Given the description of an element on the screen output the (x, y) to click on. 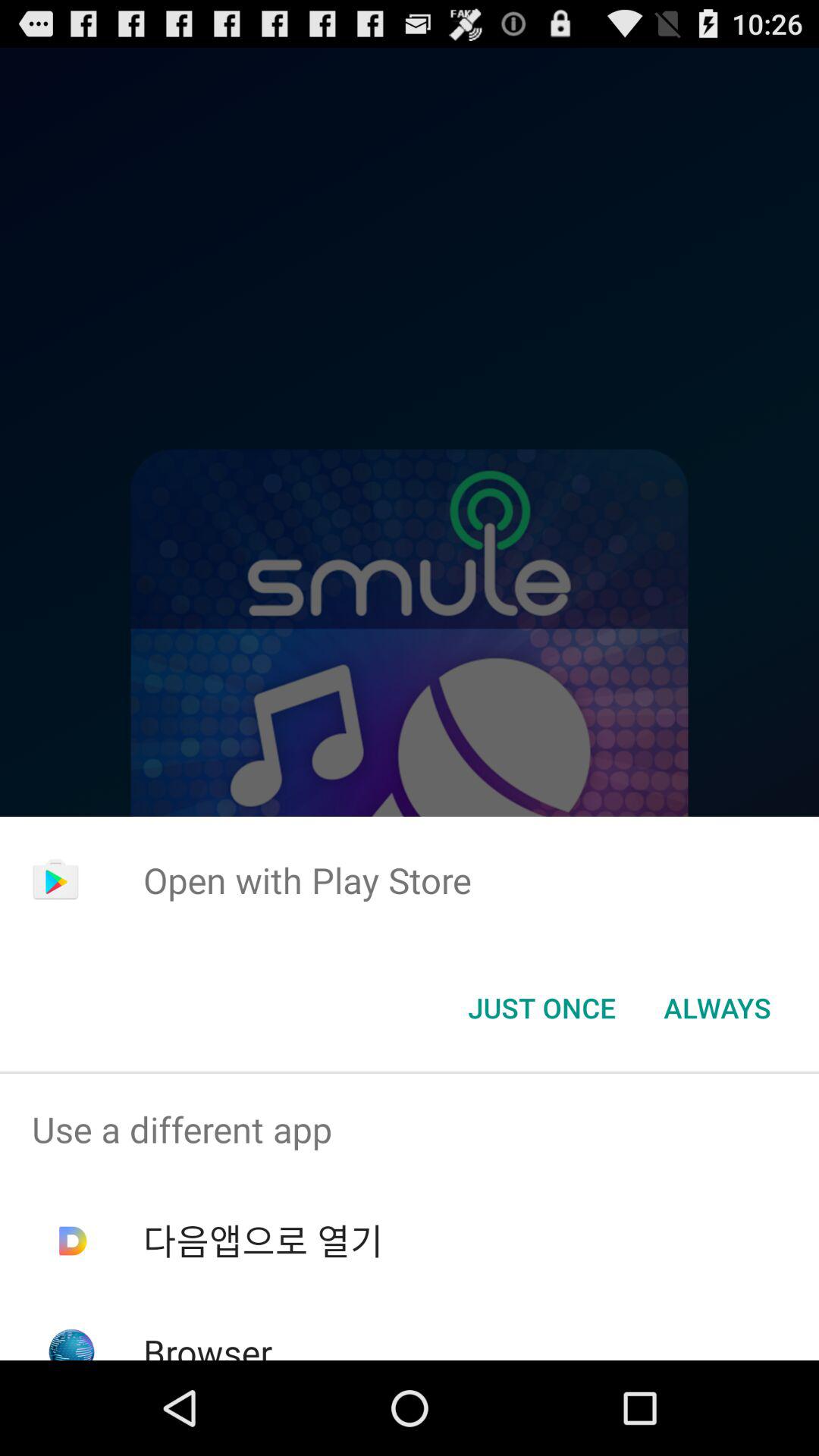
select item next to always item (541, 1007)
